Given the description of an element on the screen output the (x, y) to click on. 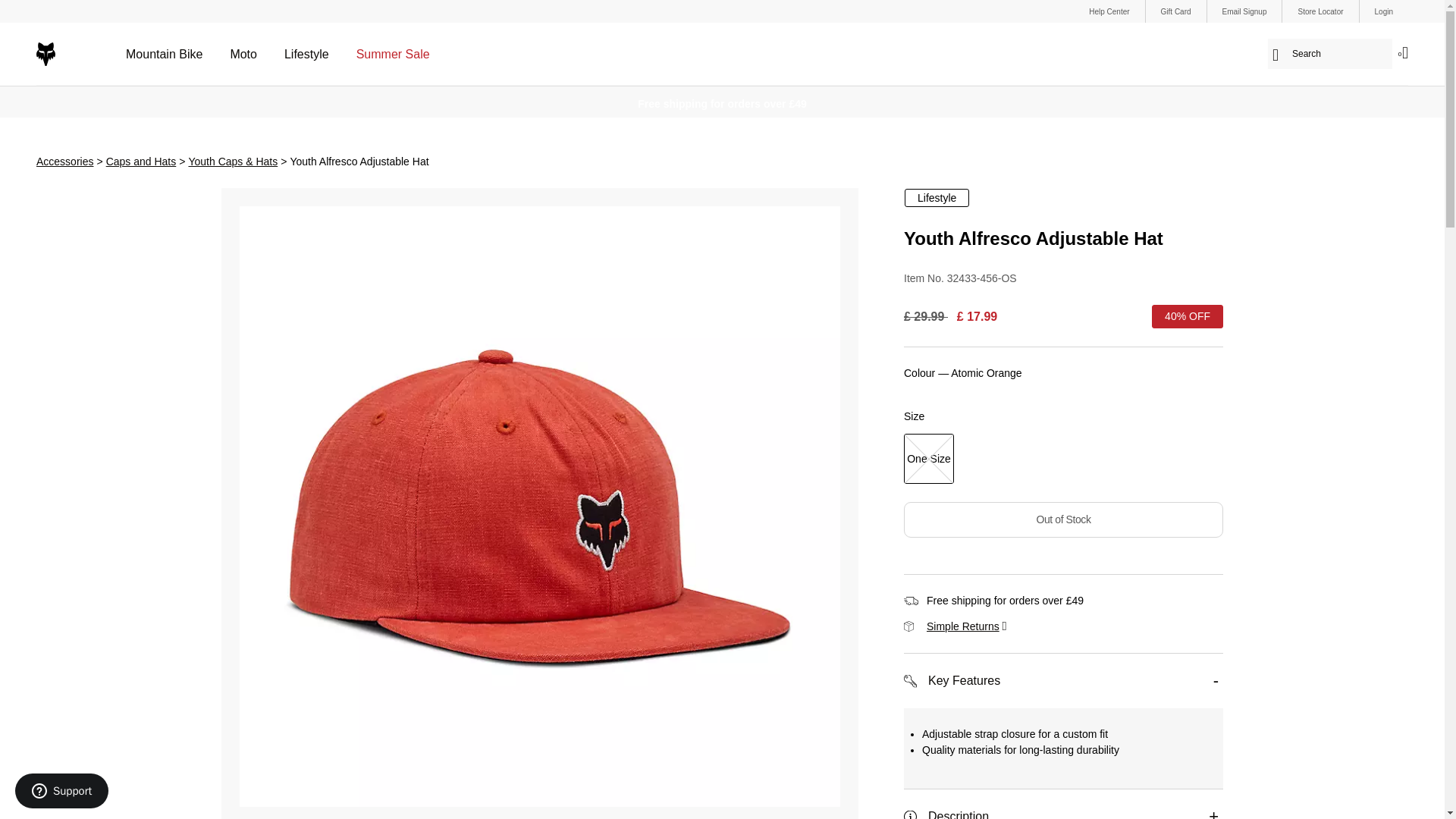
Returns (962, 625)
Help Center (1109, 11)
Gift Card (1175, 11)
Email Signup (1244, 11)
Login (1383, 11)
Store Locator (1319, 11)
Mountain Bike (163, 53)
